Given the description of an element on the screen output the (x, y) to click on. 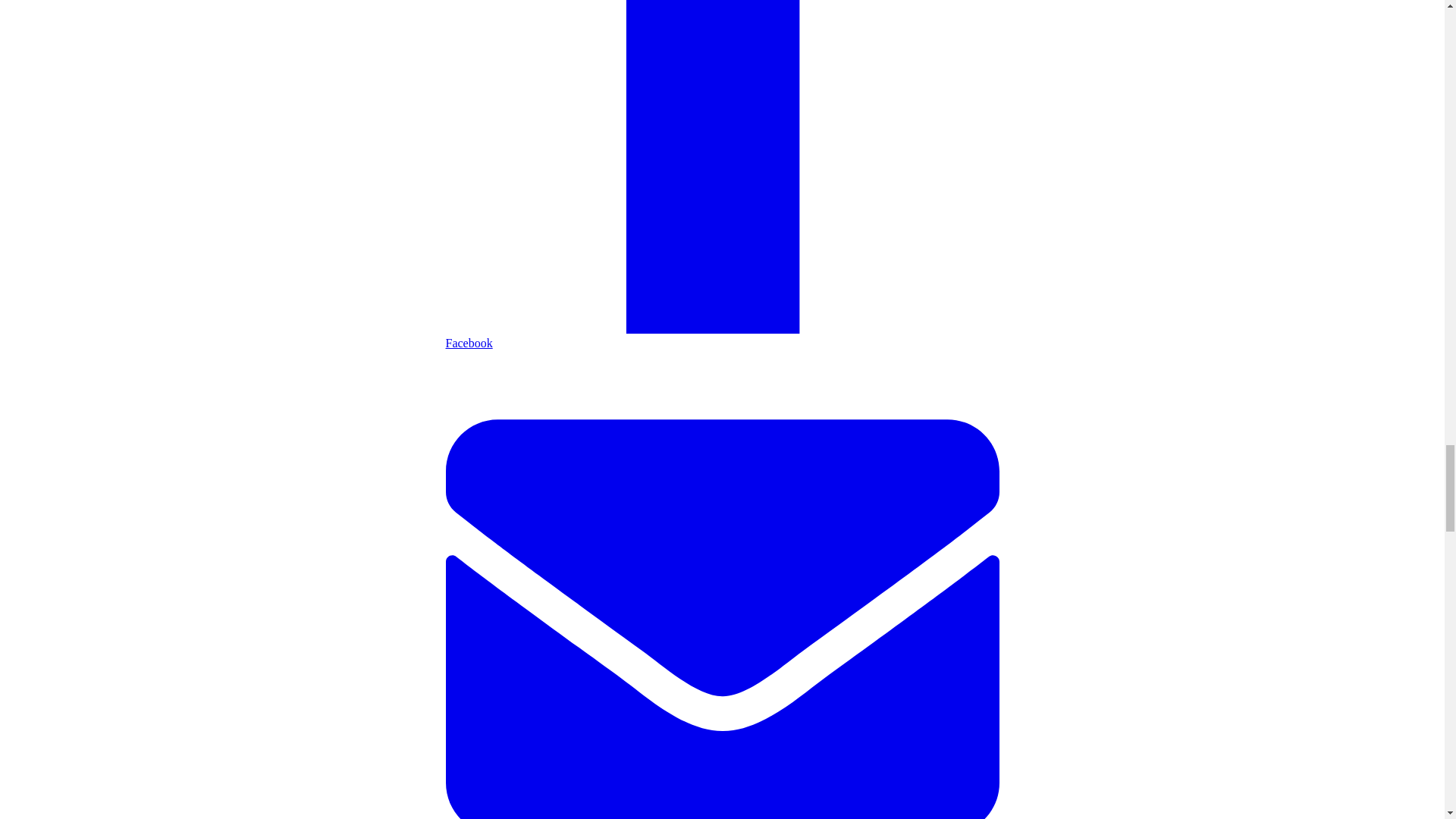
Facebook (721, 335)
